Given the description of an element on the screen output the (x, y) to click on. 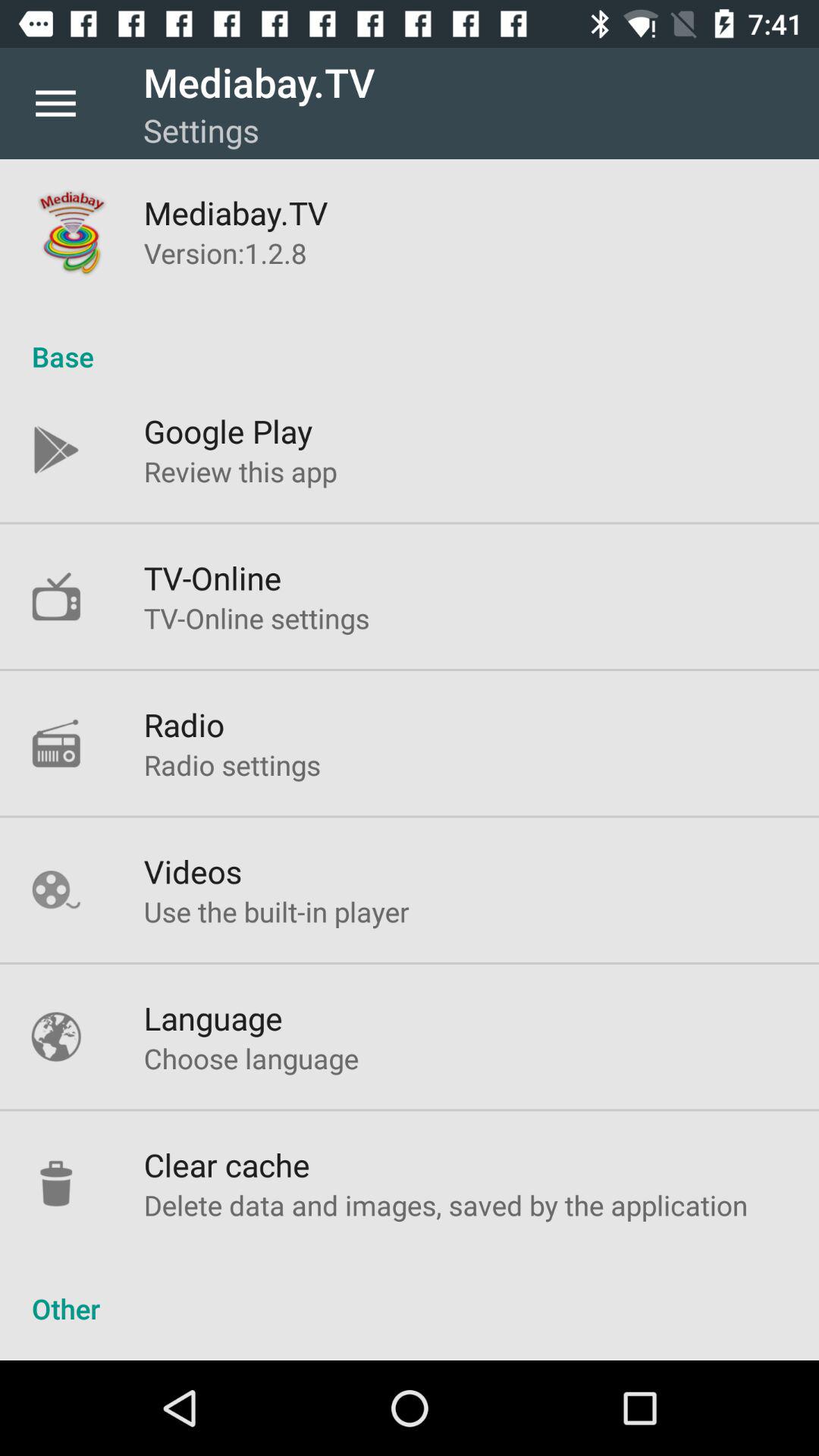
turn off the icon above the google play icon (409, 340)
